Given the description of an element on the screen output the (x, y) to click on. 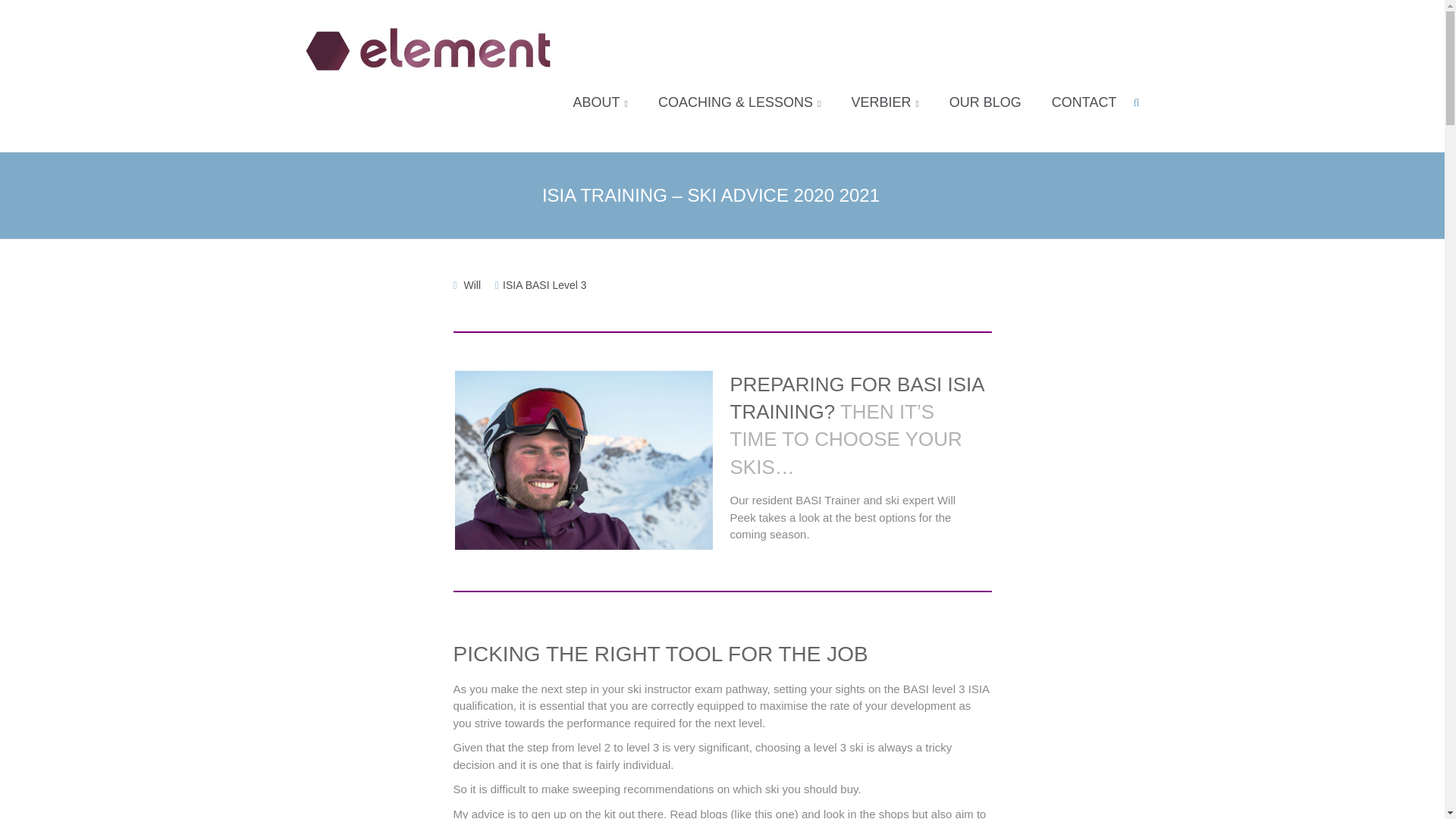
Will (472, 285)
About the ski school (600, 102)
Contact the ski school (1083, 102)
Verbier webcams, weather and information (884, 102)
ABOUT (600, 102)
VERBIER (884, 102)
Ski lessons in Verbier (739, 102)
Verbier blog (985, 102)
CONTACT (1083, 102)
ISIA BASI Level 3 (544, 285)
OUR BLOG (985, 102)
